Given the description of an element on the screen output the (x, y) to click on. 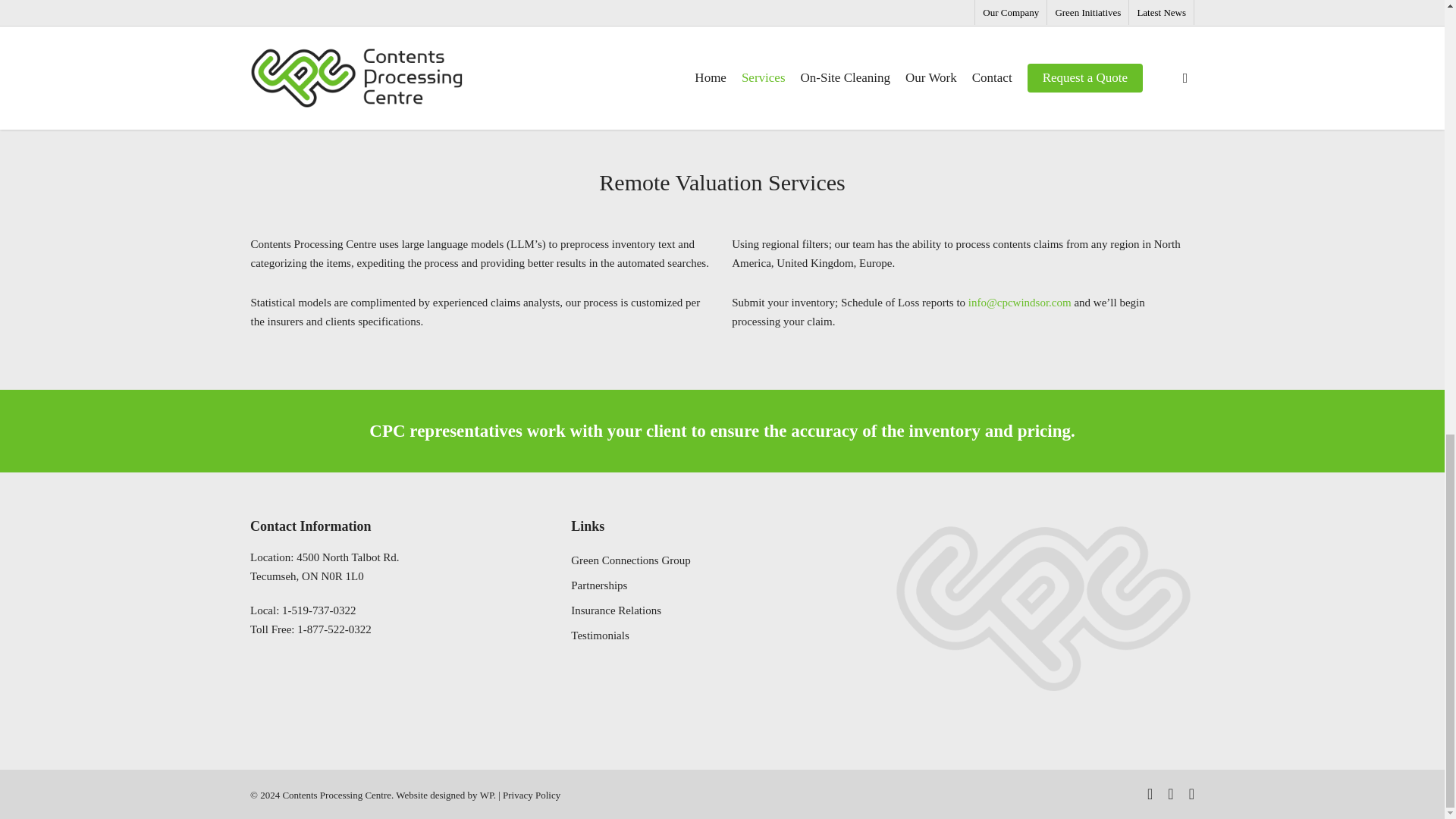
1-519-737-0322 (319, 610)
1-877-522-0322 (334, 629)
Insurance Relations (691, 610)
Partnerships (691, 585)
Website designed by WP. (446, 794)
Testimonials (324, 566)
Privacy Policy (691, 635)
Green Connections Group (531, 794)
